Given the description of an element on the screen output the (x, y) to click on. 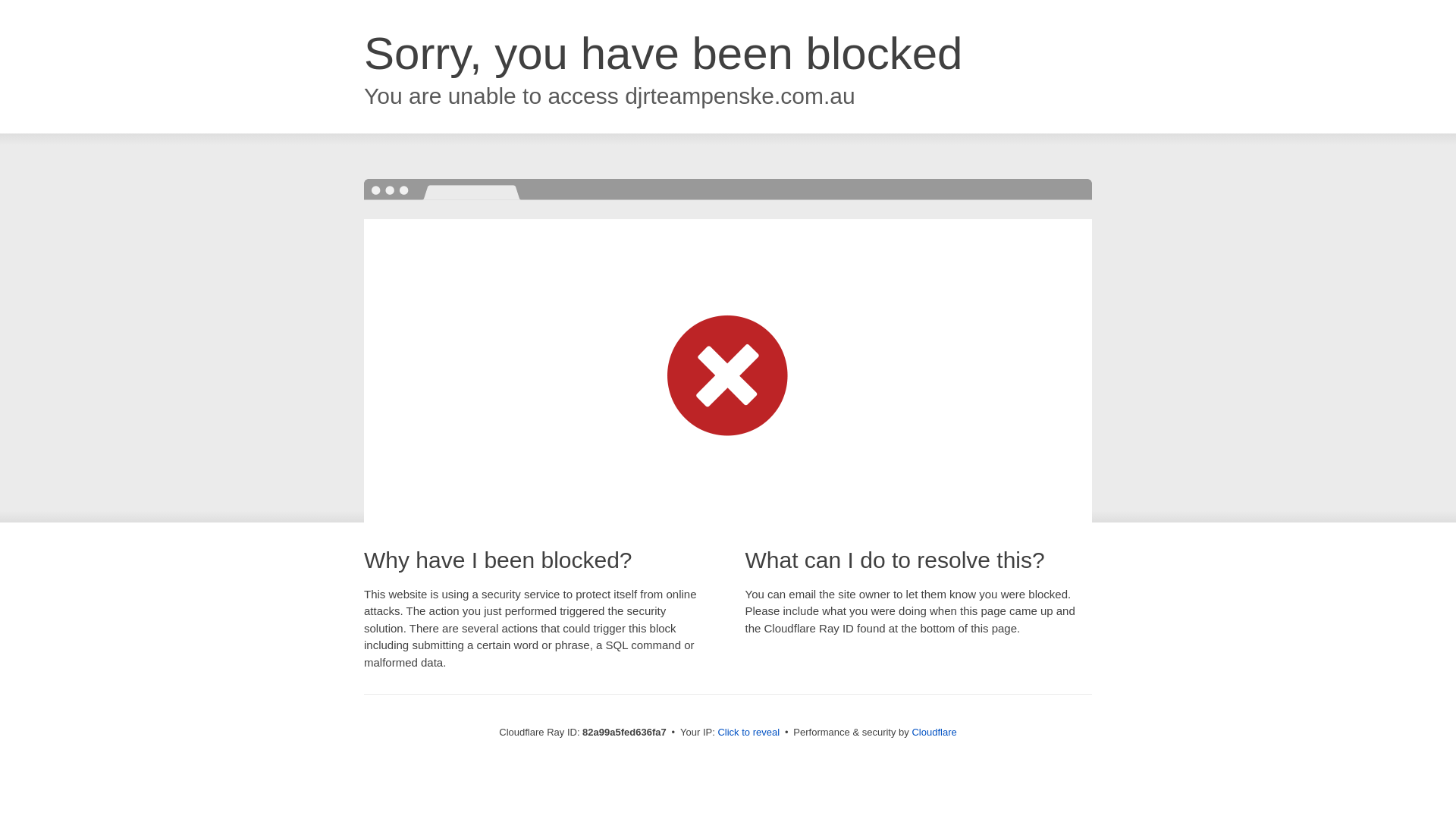
Click to reveal Element type: text (748, 732)
Cloudflare Element type: text (933, 731)
